Given the description of an element on the screen output the (x, y) to click on. 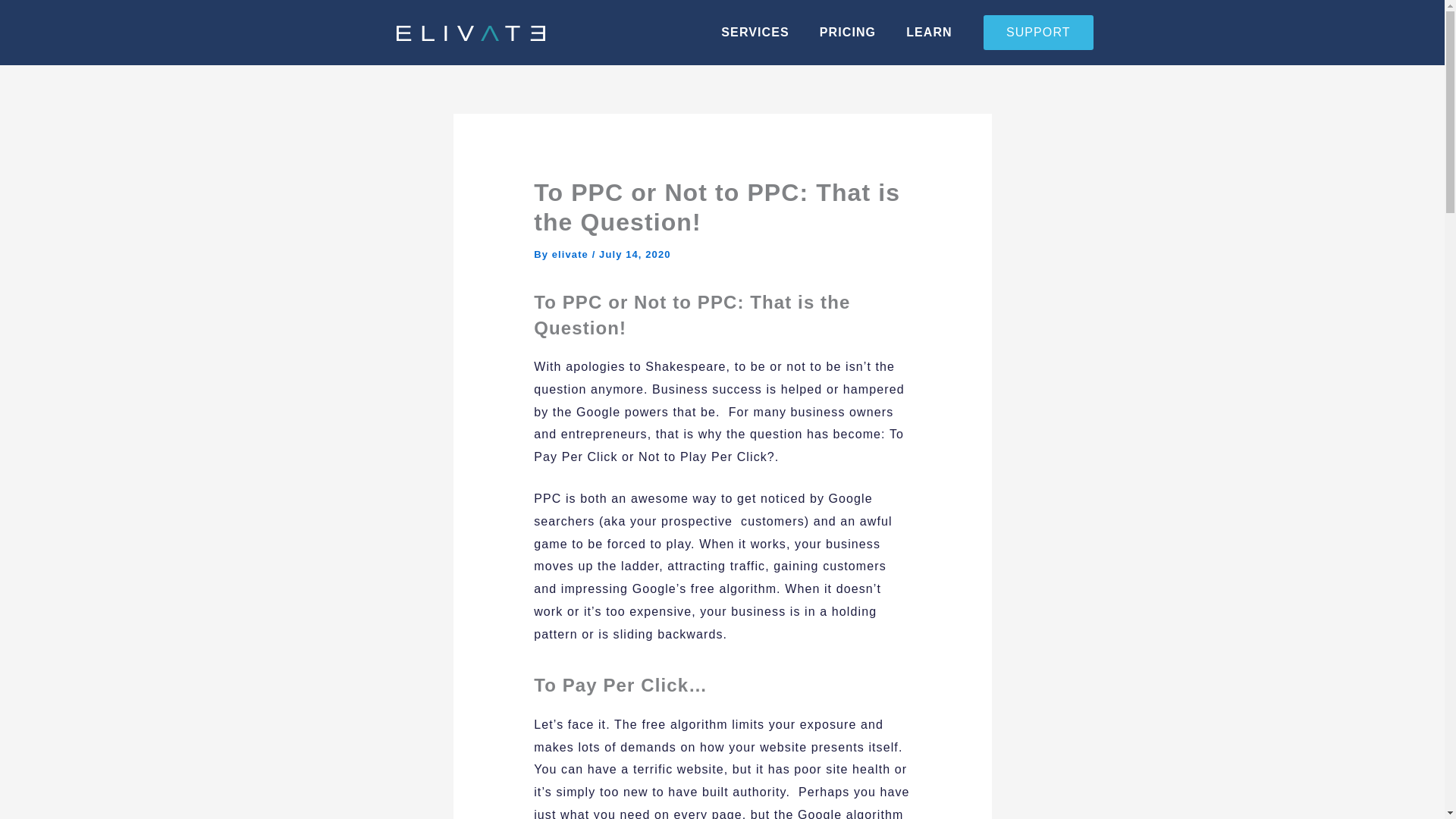
SUPPORT (1038, 32)
LEARN (929, 32)
elivate (571, 254)
SERVICES (754, 32)
View all posts by elivate (571, 254)
PRICING (848, 32)
